Given the description of an element on the screen output the (x, y) to click on. 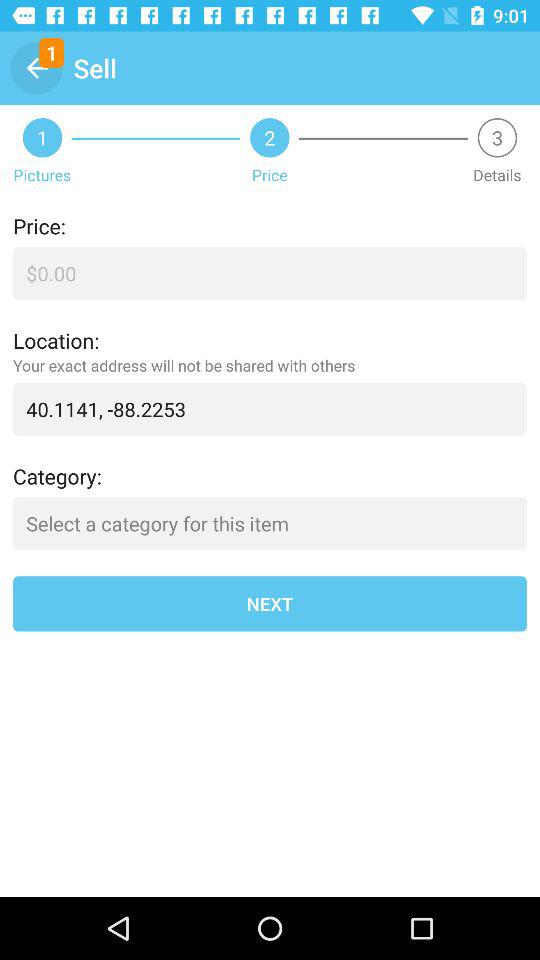
select item next to the sell item (36, 68)
